Given the description of an element on the screen output the (x, y) to click on. 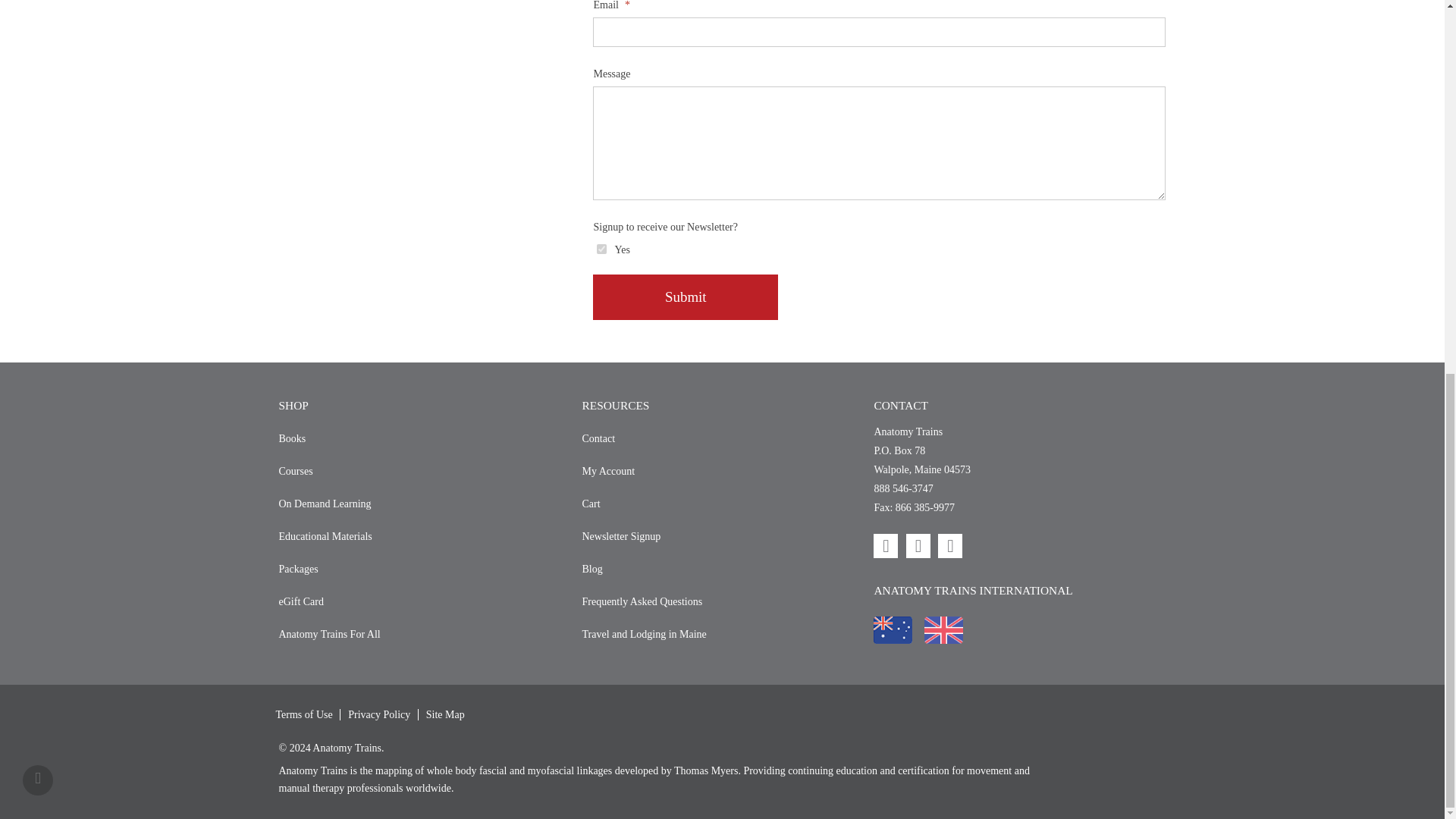
Yes (601, 248)
Submit (684, 297)
